Given the description of an element on the screen output the (x, y) to click on. 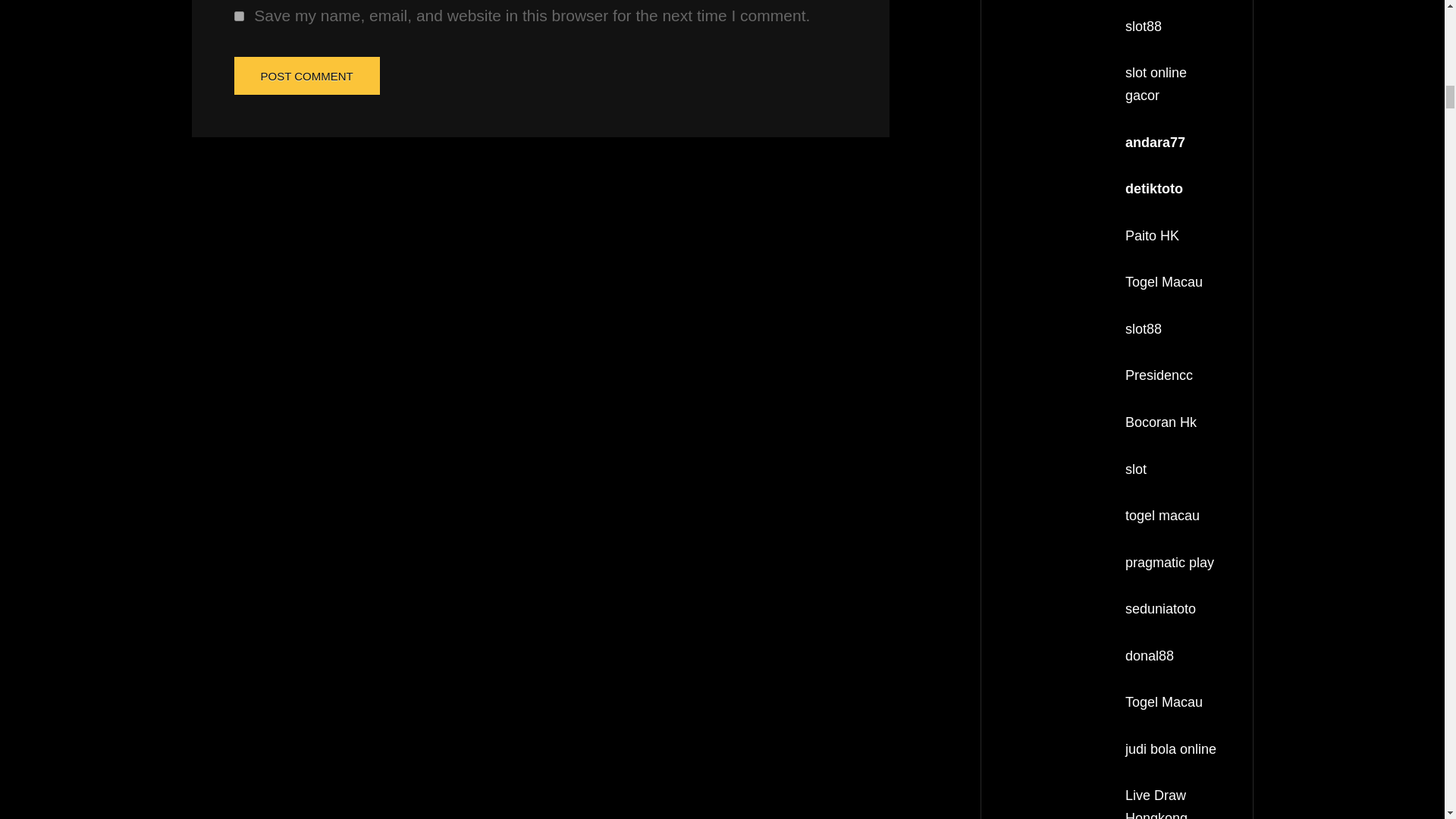
Post Comment (305, 75)
Post Comment (305, 75)
yes (237, 16)
